Given the description of an element on the screen output the (x, y) to click on. 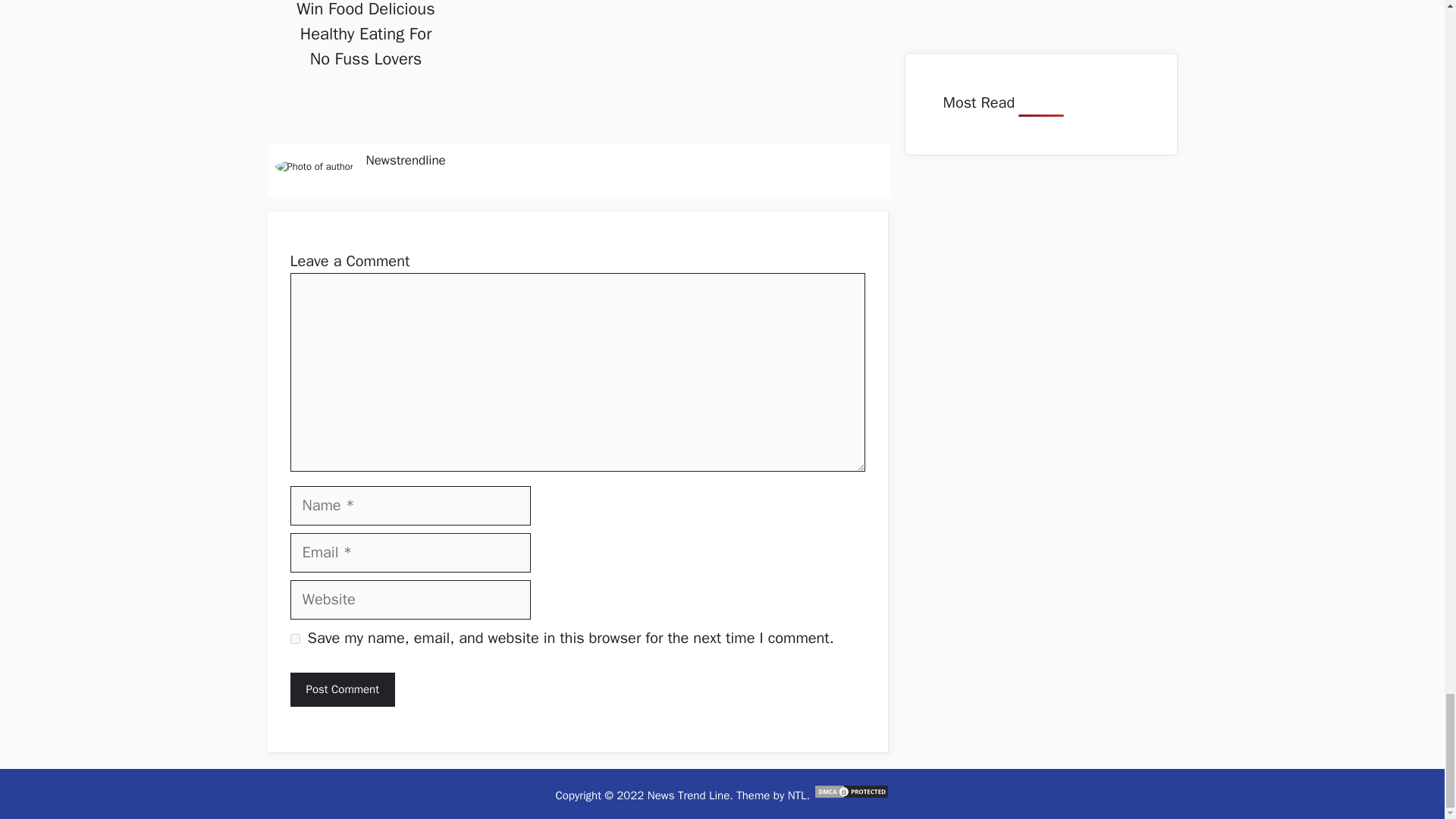
Post Comment (341, 689)
Newstrendline (405, 160)
yes (294, 638)
Win Food Delicious Healthy Eating For No Fuss Lovers (365, 34)
Content Protection by DMCA.com (851, 795)
